Given the description of an element on the screen output the (x, y) to click on. 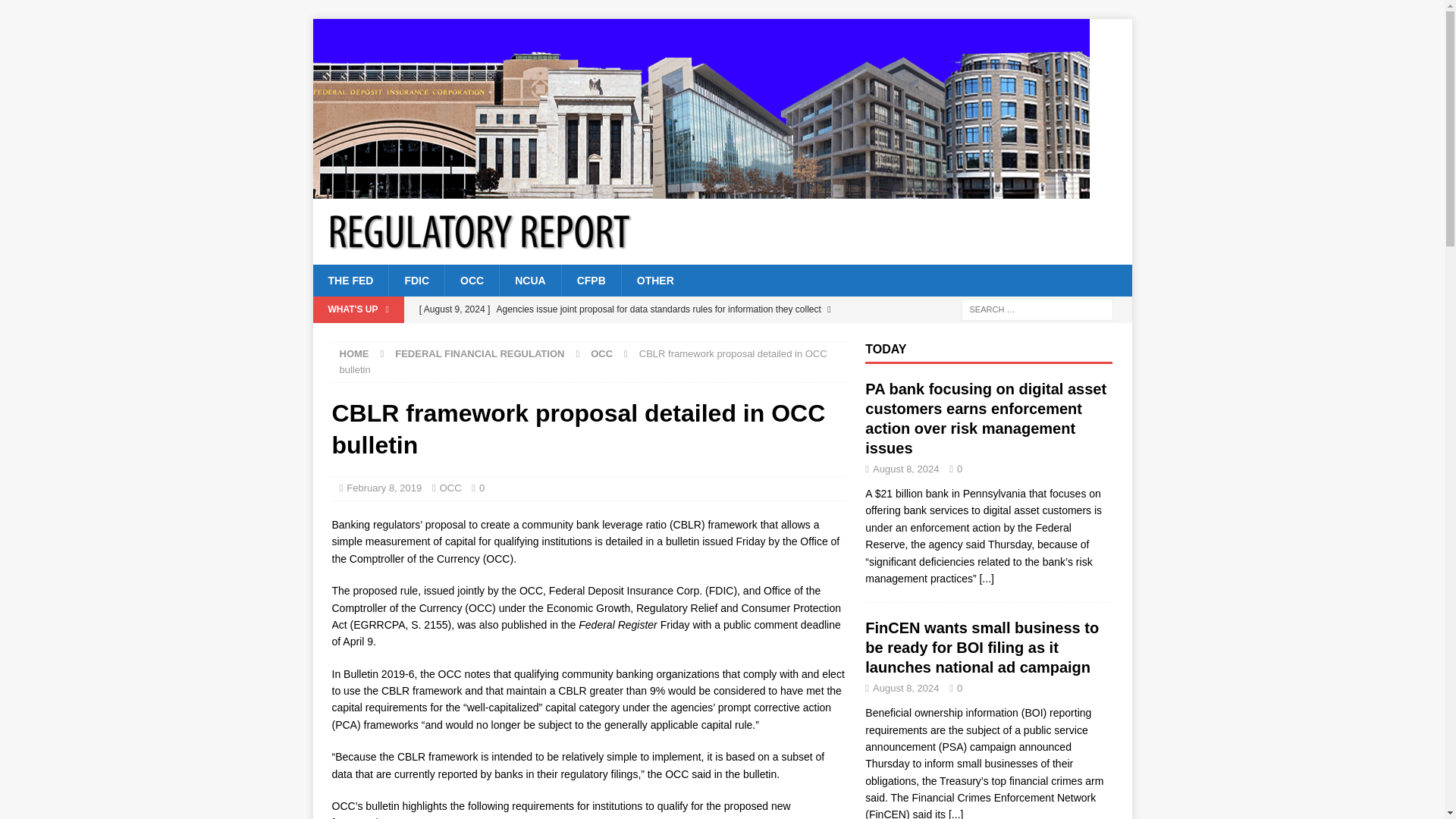
FDIC (416, 280)
OTHER (654, 280)
THE FED (350, 280)
HOME (354, 353)
NCUA (529, 280)
OCC (450, 487)
FEDERAL FINANCIAL REGULATION (479, 353)
February 8, 2019 (384, 487)
